Given the description of an element on the screen output the (x, y) to click on. 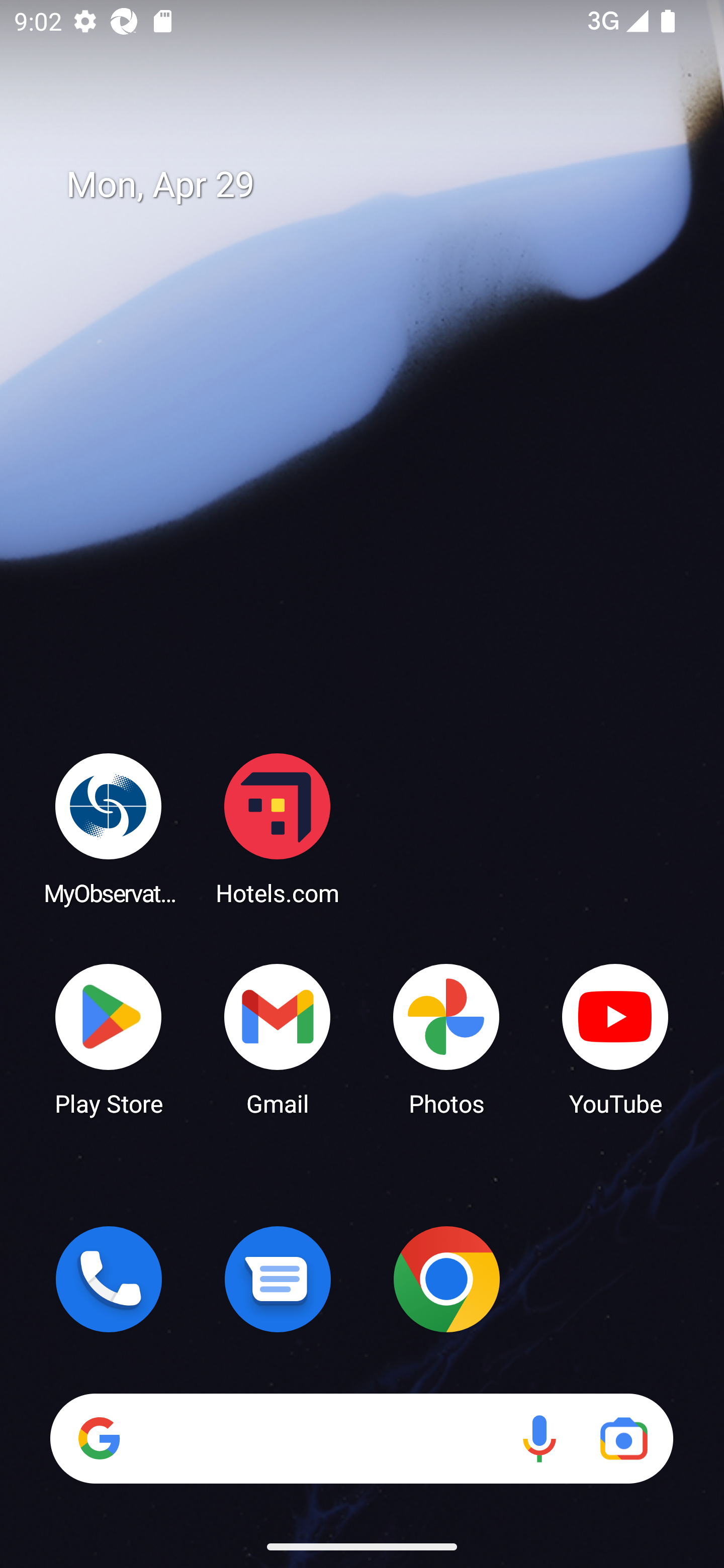
Mon, Apr 29 (375, 184)
MyObservatory (108, 828)
Hotels.com (277, 828)
Play Store (108, 1038)
Gmail (277, 1038)
Photos (445, 1038)
YouTube (615, 1038)
Phone (108, 1279)
Messages (277, 1279)
Chrome (446, 1279)
Search Voice search Google Lens (361, 1438)
Voice search (539, 1438)
Google Lens (623, 1438)
